Given the description of an element on the screen output the (x, y) to click on. 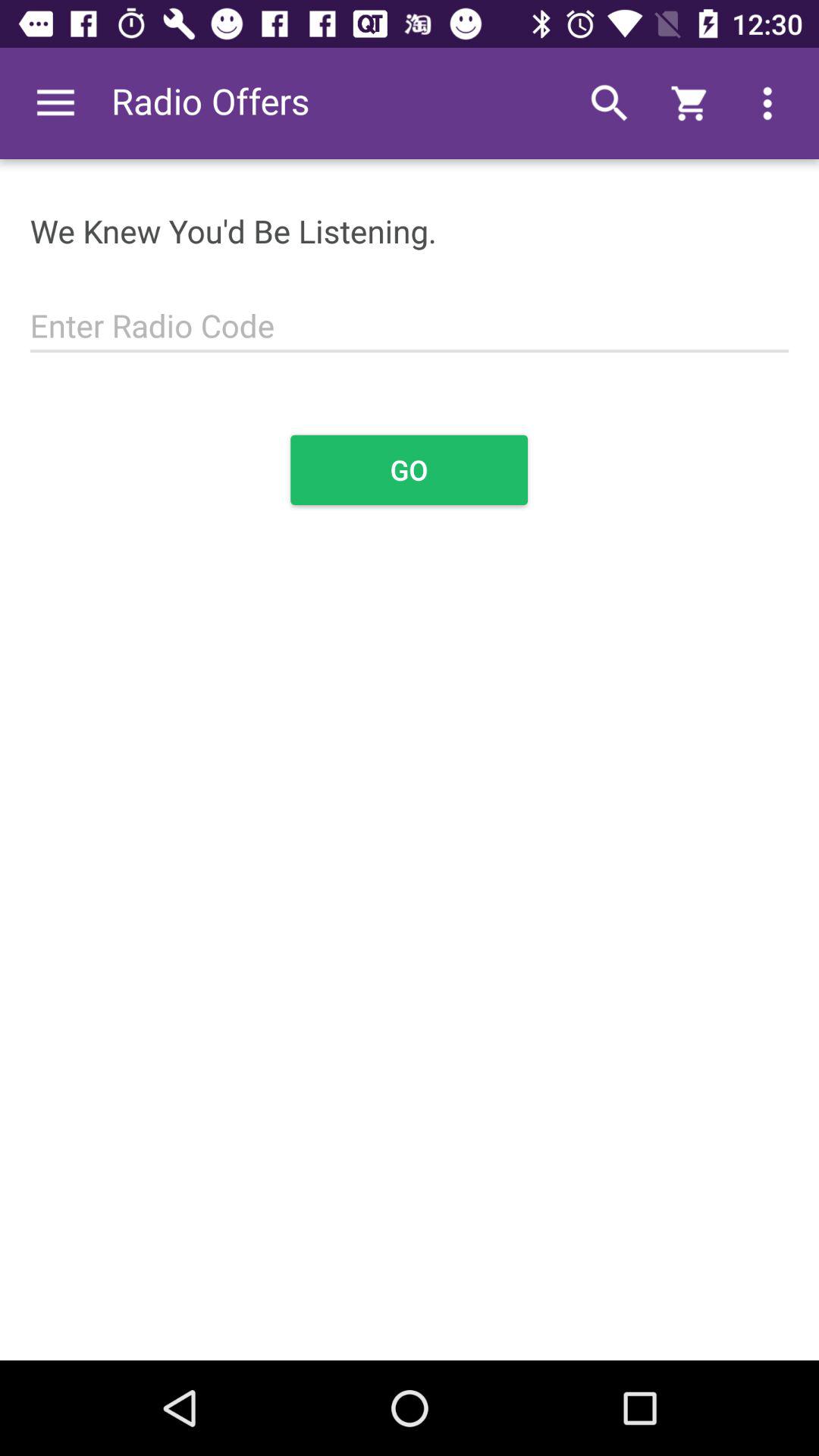
choose the item above the we knew you item (55, 103)
